Given the description of an element on the screen output the (x, y) to click on. 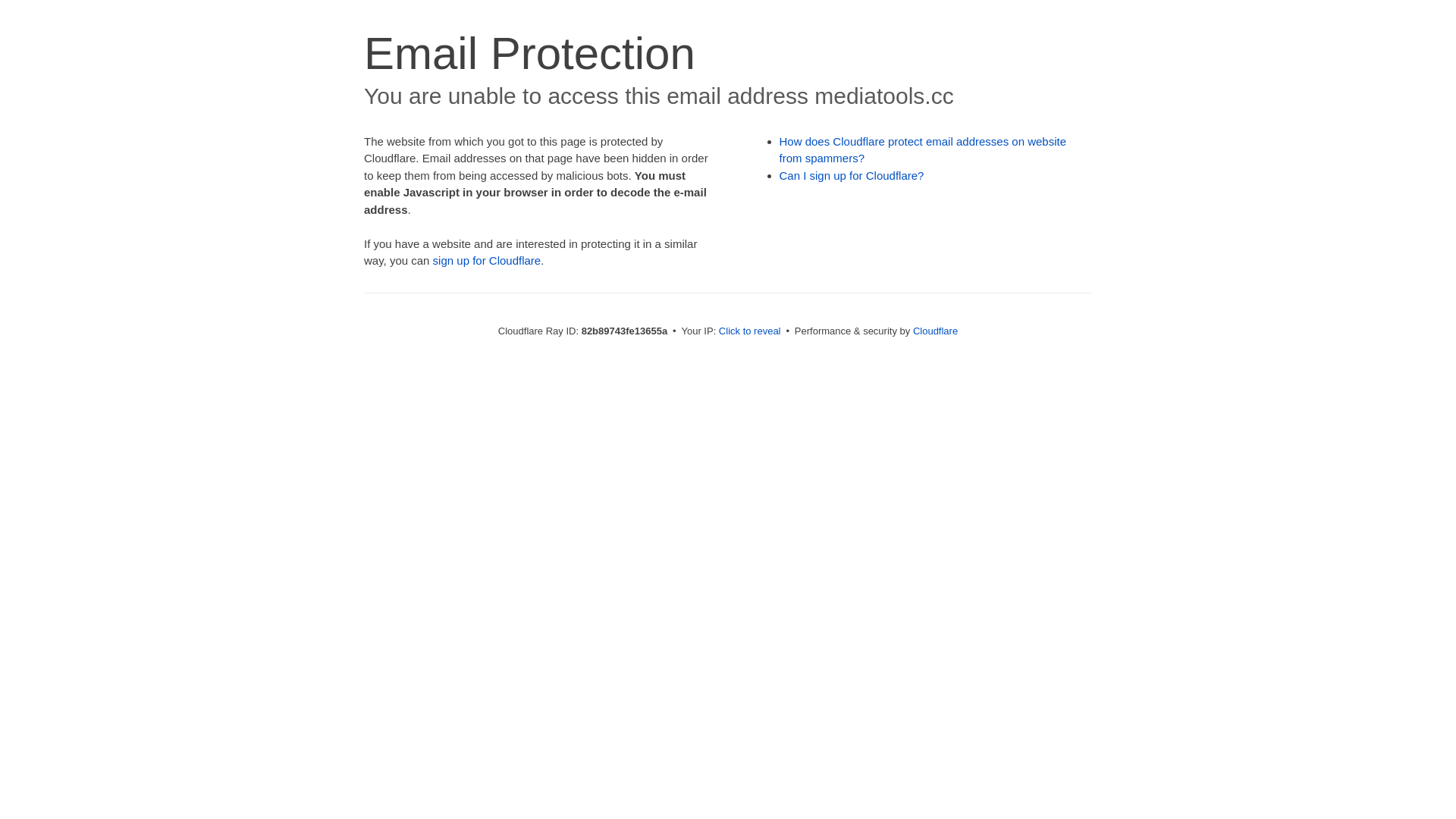
Can I sign up for Cloudflare? Element type: text (851, 175)
Click to reveal Element type: text (749, 330)
Cloudflare Element type: text (935, 330)
sign up for Cloudflare Element type: text (487, 260)
